Given the description of an element on the screen output the (x, y) to click on. 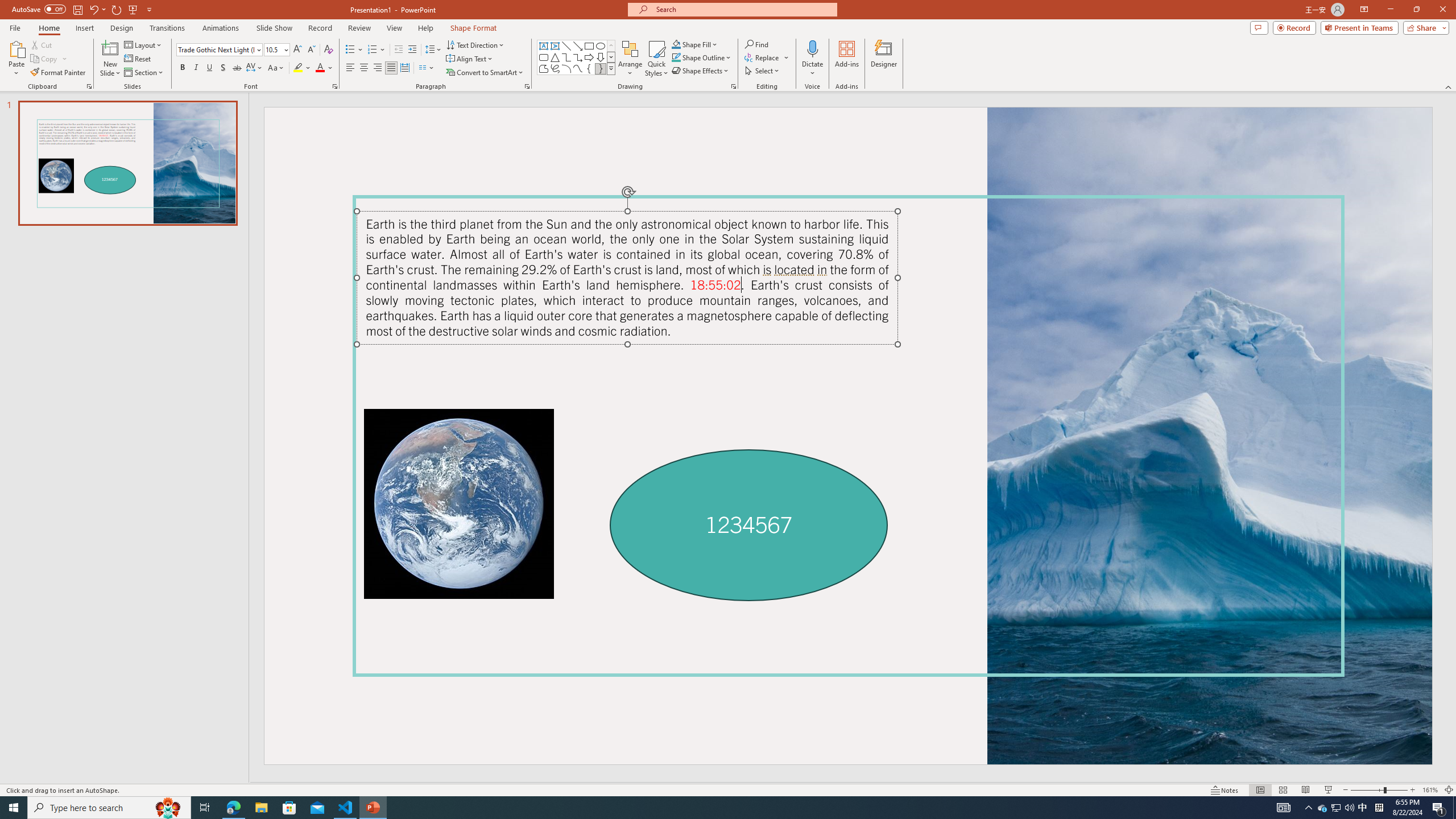
AutomationID: ShapesInsertGallery (576, 57)
Format Painter (58, 72)
Reset (138, 58)
Italic (195, 67)
Zoom 161% (1430, 790)
Convert to SmartArt (485, 72)
Shape Format (473, 28)
